Given the description of an element on the screen output the (x, y) to click on. 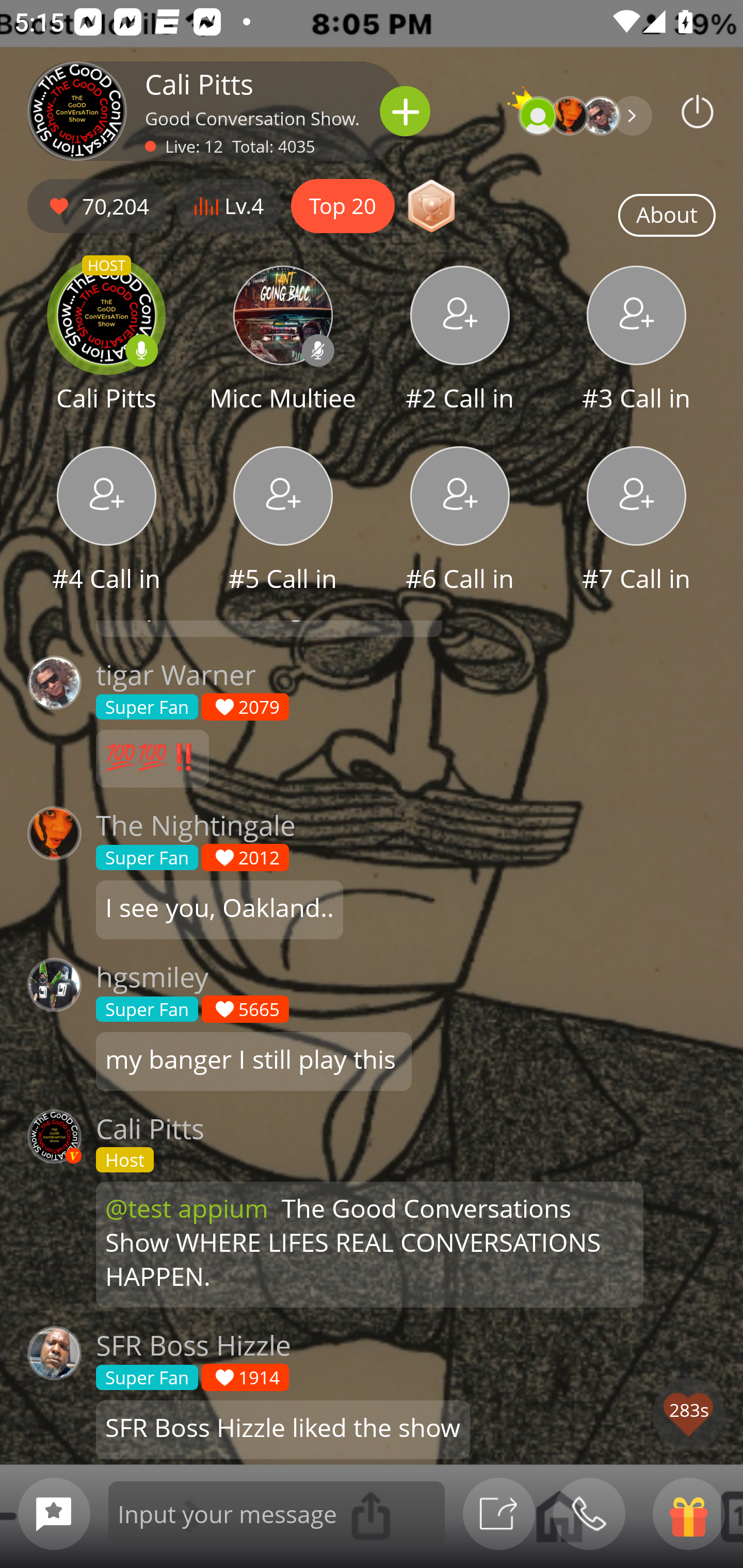
Podbean (697, 111)
About (666, 215)
HOST Cali Pitts (105, 340)
Micc Multiee (282, 340)
#2 Call in (459, 340)
#3 Call in (636, 340)
#4 Call in (105, 521)
#5 Call in (282, 521)
#6 Call in (459, 521)
#7 Call in (636, 521)
Input your message (276, 1513)
